Given the description of an element on the screen output the (x, y) to click on. 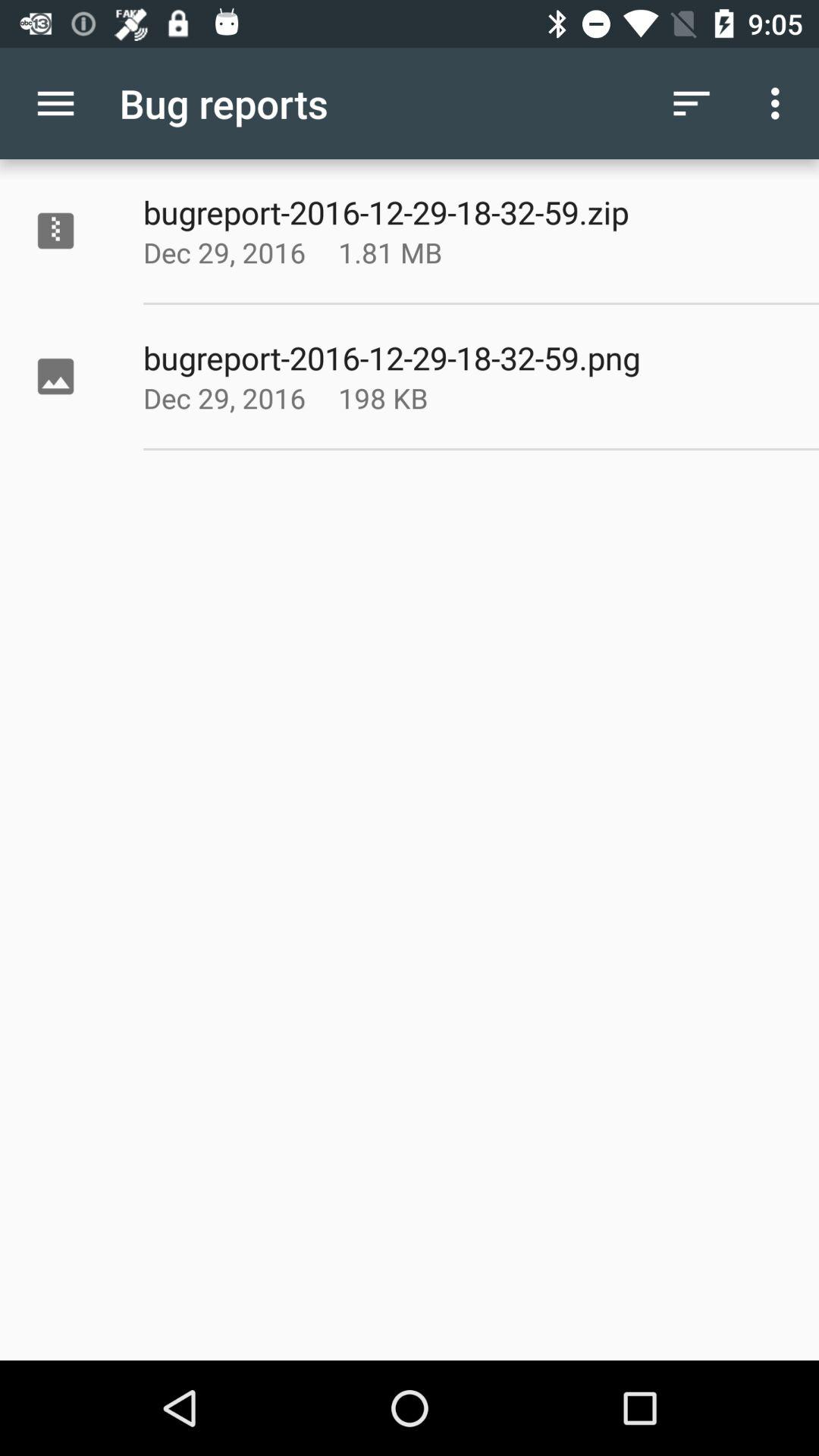
press the app next to the bug reports item (691, 103)
